Given the description of an element on the screen output the (x, y) to click on. 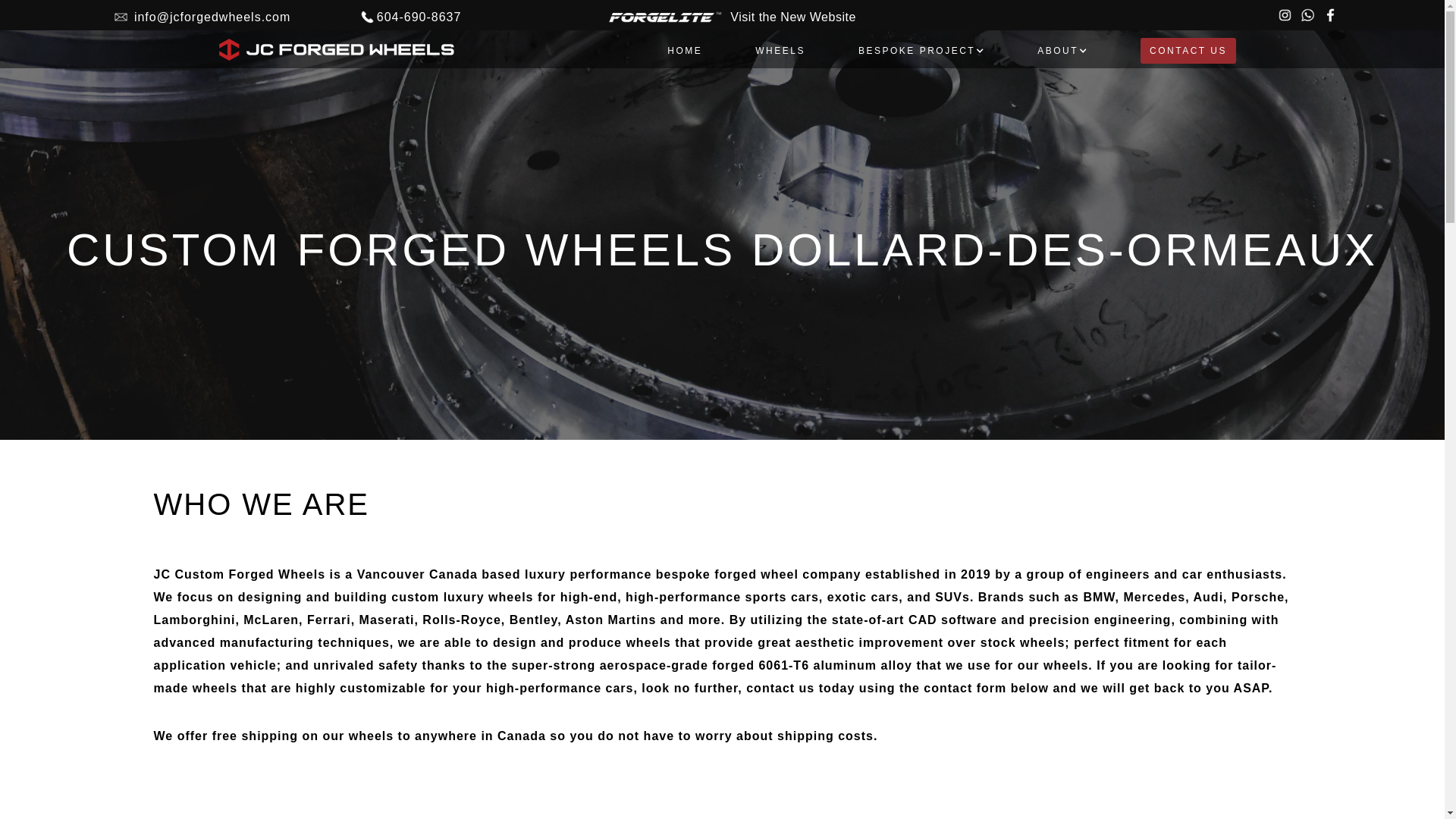
CONTACT US (1187, 48)
HOME (684, 48)
Visit the New Website (722, 15)
604-690-8637 (409, 15)
WHEELS (780, 48)
